Given the description of an element on the screen output the (x, y) to click on. 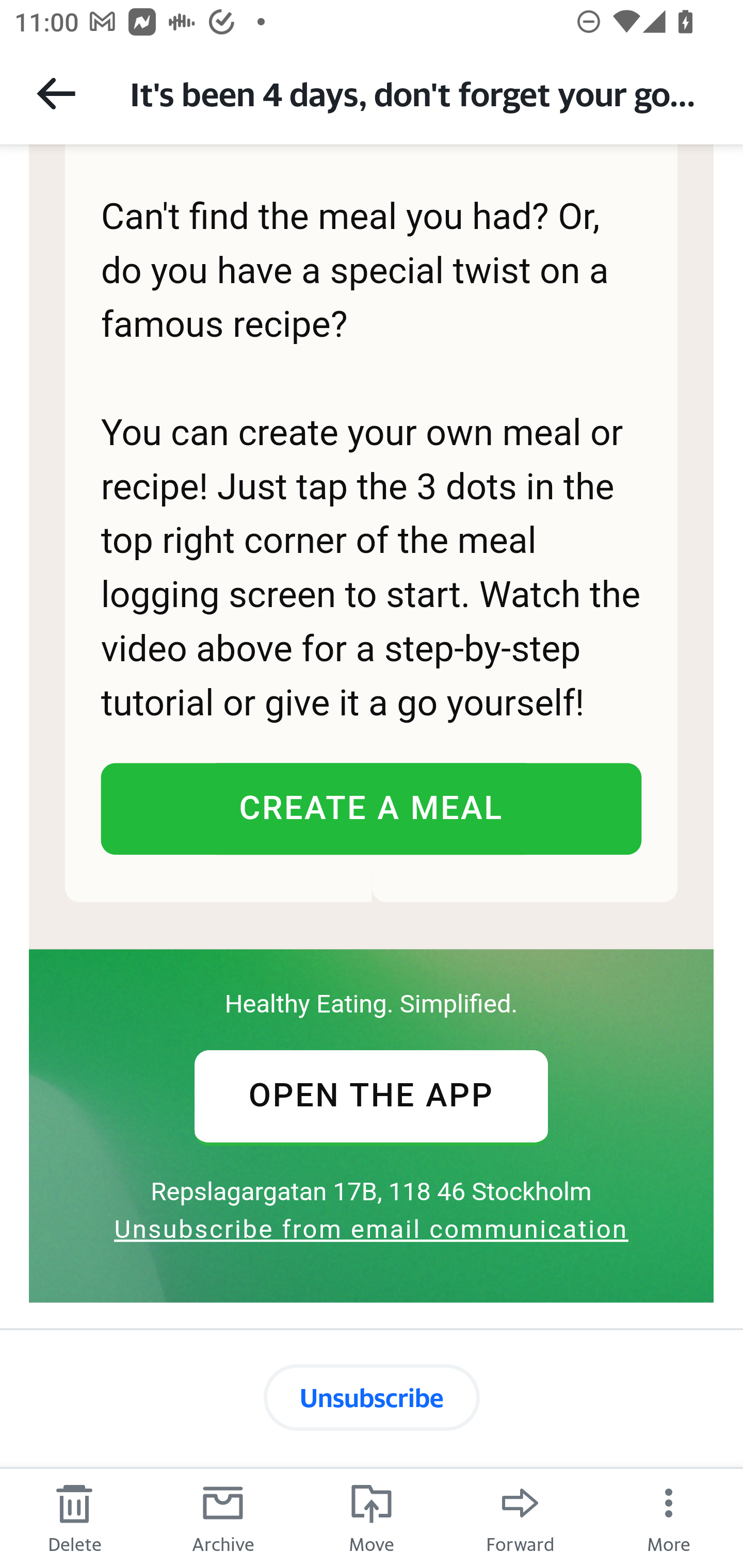
Back (55, 92)
CREATE A MEAL (371, 808)
OPEN THE APP (370, 1095)
Unsubscribe from email communication (370, 1228)
Unsubscribe (371, 1397)
Delete (74, 1517)
Archive (222, 1517)
Move (371, 1517)
Forward (519, 1517)
More (668, 1517)
